Given the description of an element on the screen output the (x, y) to click on. 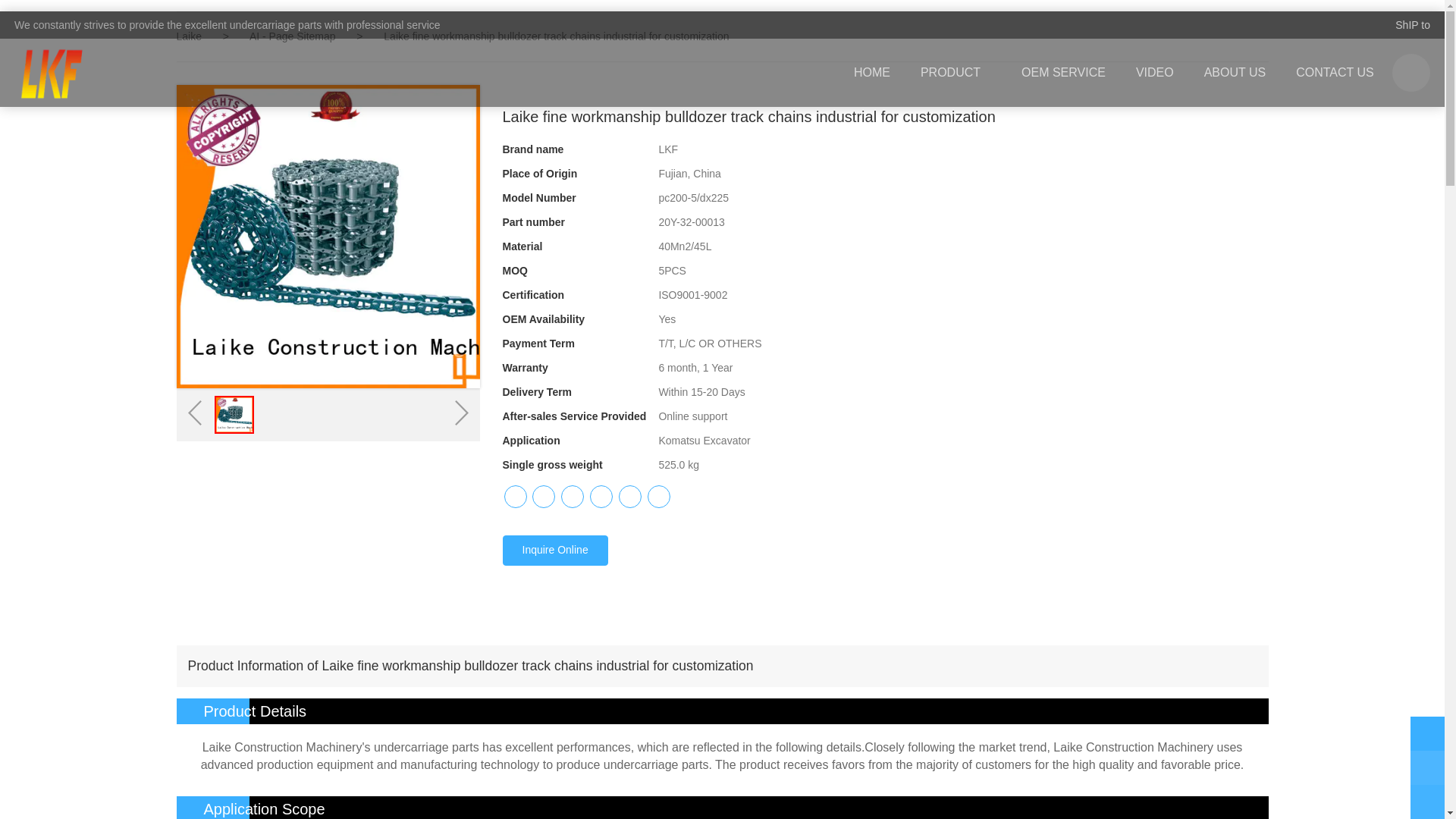
CONTACT US (1335, 72)
AI - Page Sitemap (293, 36)
Inquire Online (554, 550)
OEM SERVICE (1063, 72)
HOME (871, 72)
PRODUCT (955, 72)
Laike (188, 36)
VIDEO (1155, 72)
ABOUT US (1235, 72)
